Given the description of an element on the screen output the (x, y) to click on. 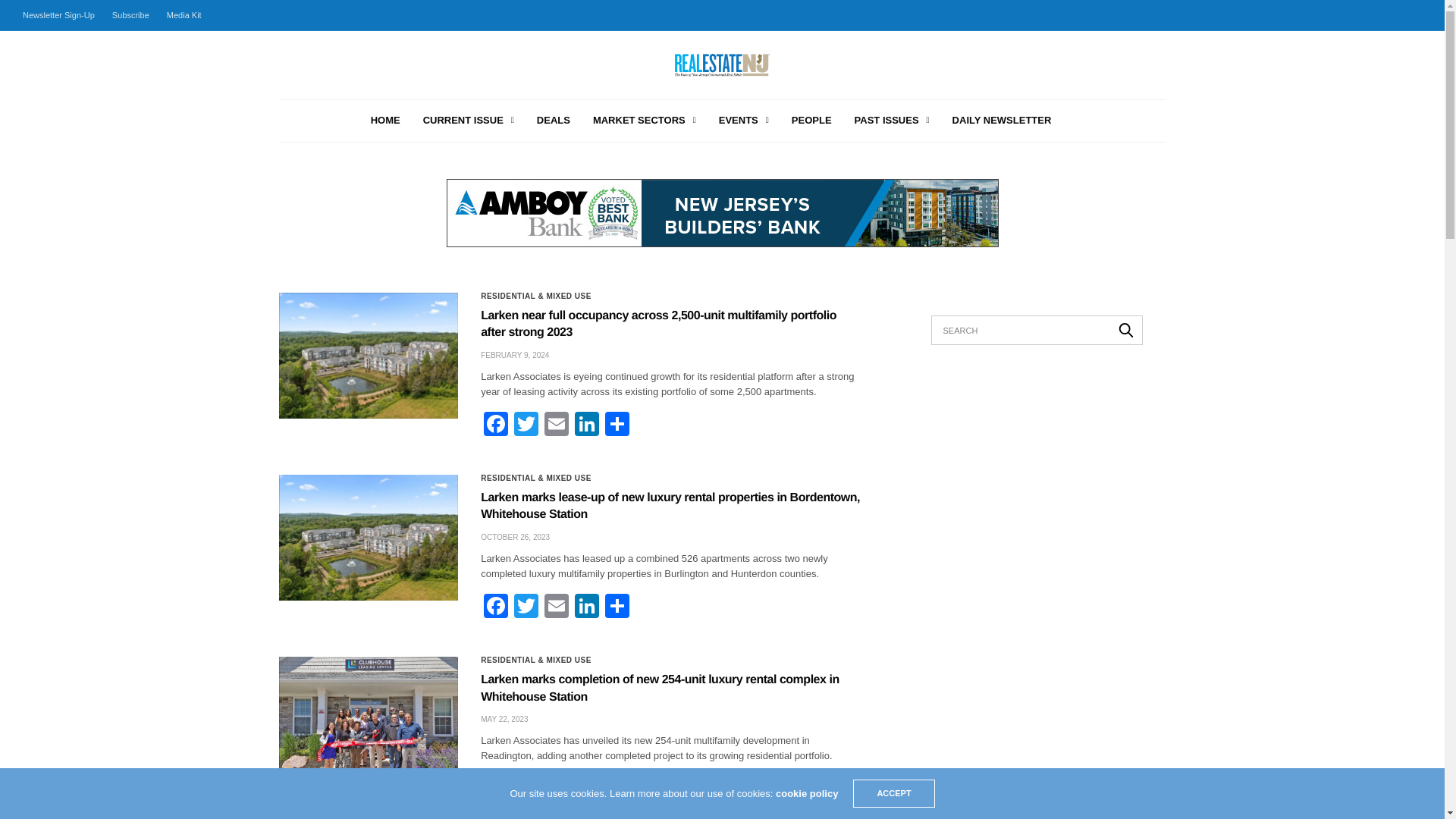
DEALS (553, 120)
LinkedIn (587, 425)
Media Kit (183, 15)
CURRENT ISSUE (468, 120)
Twitter (526, 425)
PEOPLE (811, 120)
Subscribe (130, 15)
Facebook (495, 425)
Email (556, 607)
PAST ISSUES (892, 120)
Facebook (495, 425)
EVENTS (743, 120)
Newsletter Sign-Up (62, 15)
